Given the description of an element on the screen output the (x, y) to click on. 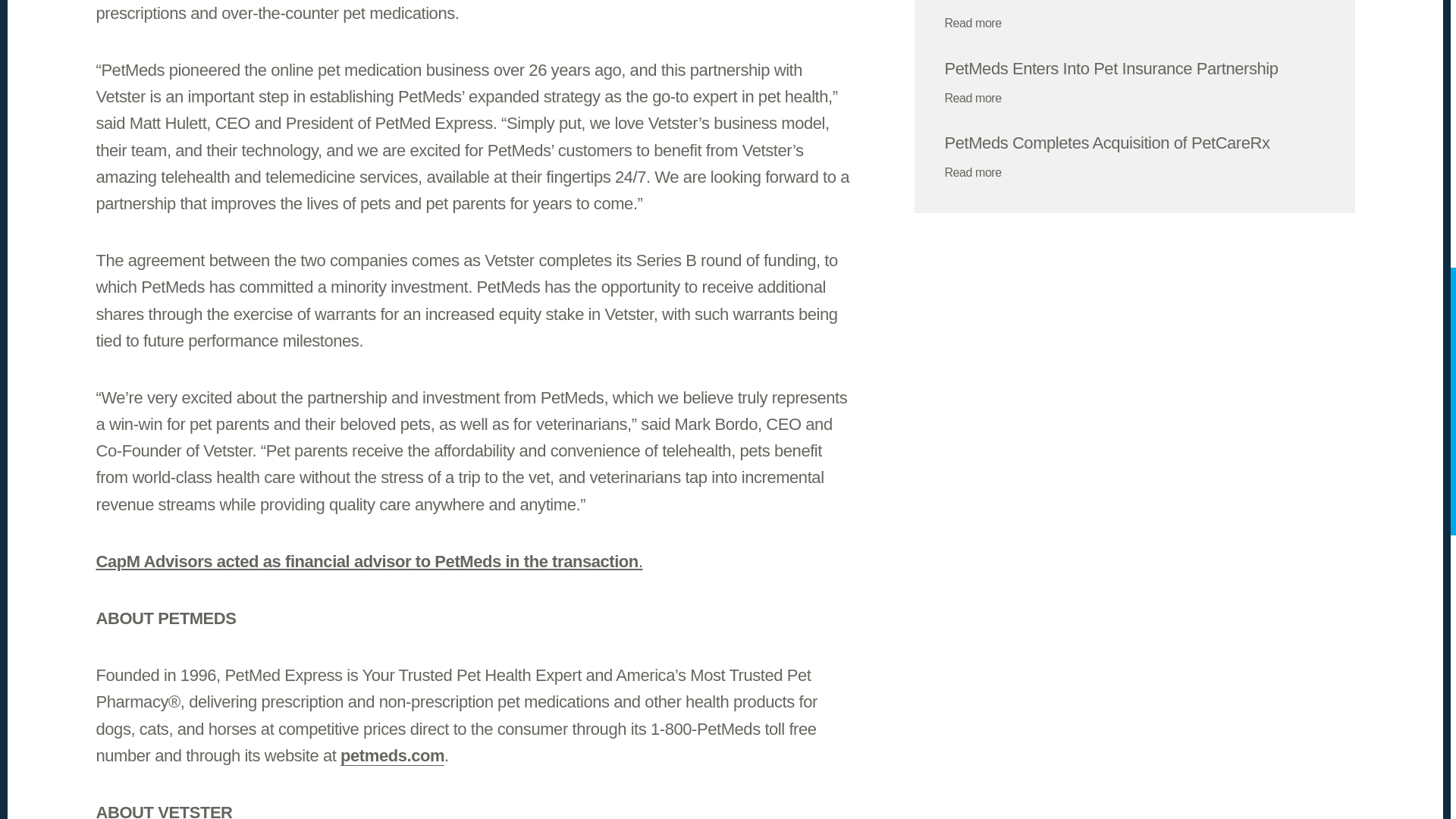
Read more (982, 22)
Read more (982, 171)
petmeds.com (392, 755)
Read more (982, 97)
